Given the description of an element on the screen output the (x, y) to click on. 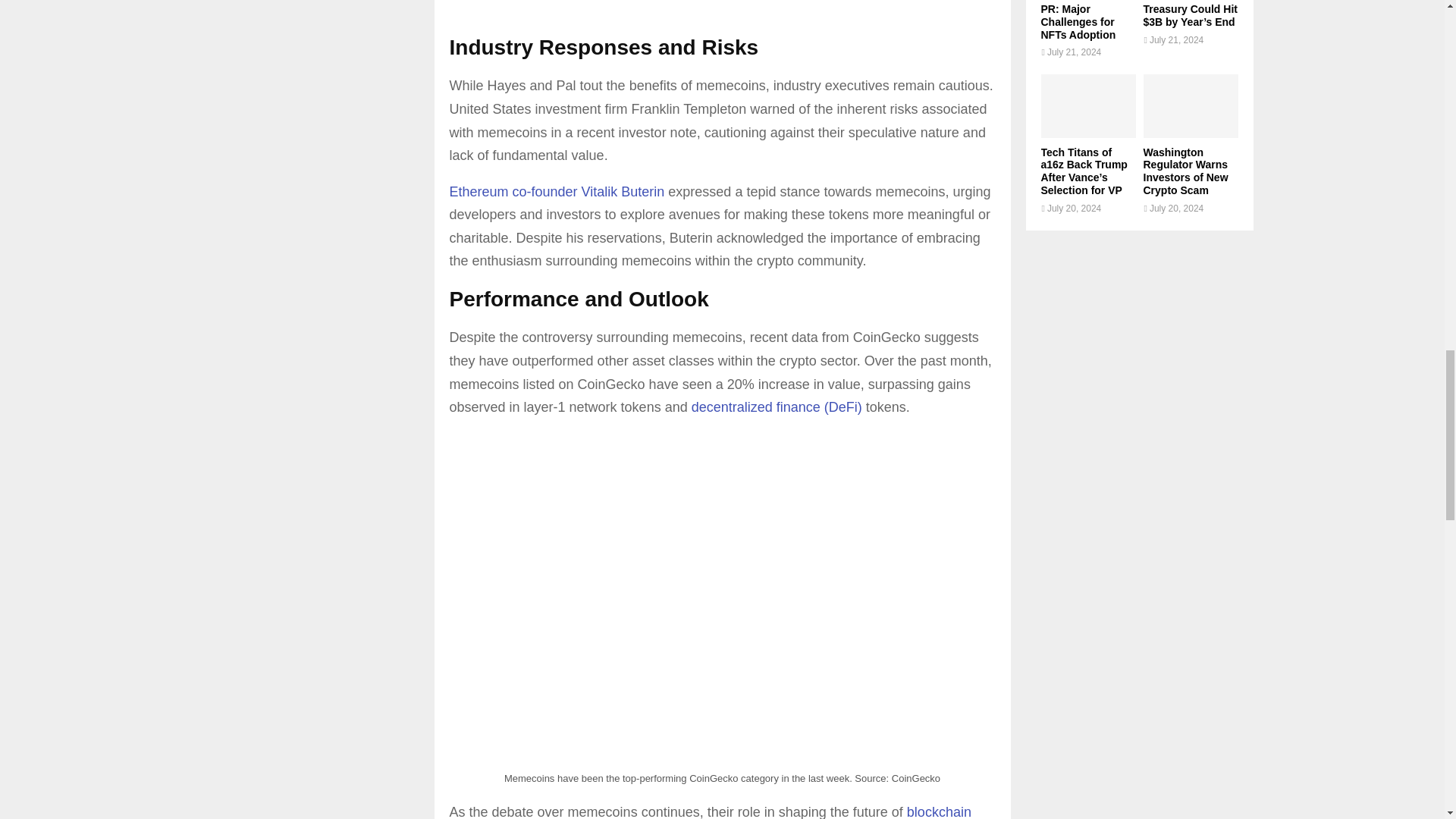
The Return of Crypto King Arthur Hayes (721, 6)
blockchain networks (709, 811)
Ethereum co-founder Vitalik Buterin (558, 191)
